Given the description of an element on the screen output the (x, y) to click on. 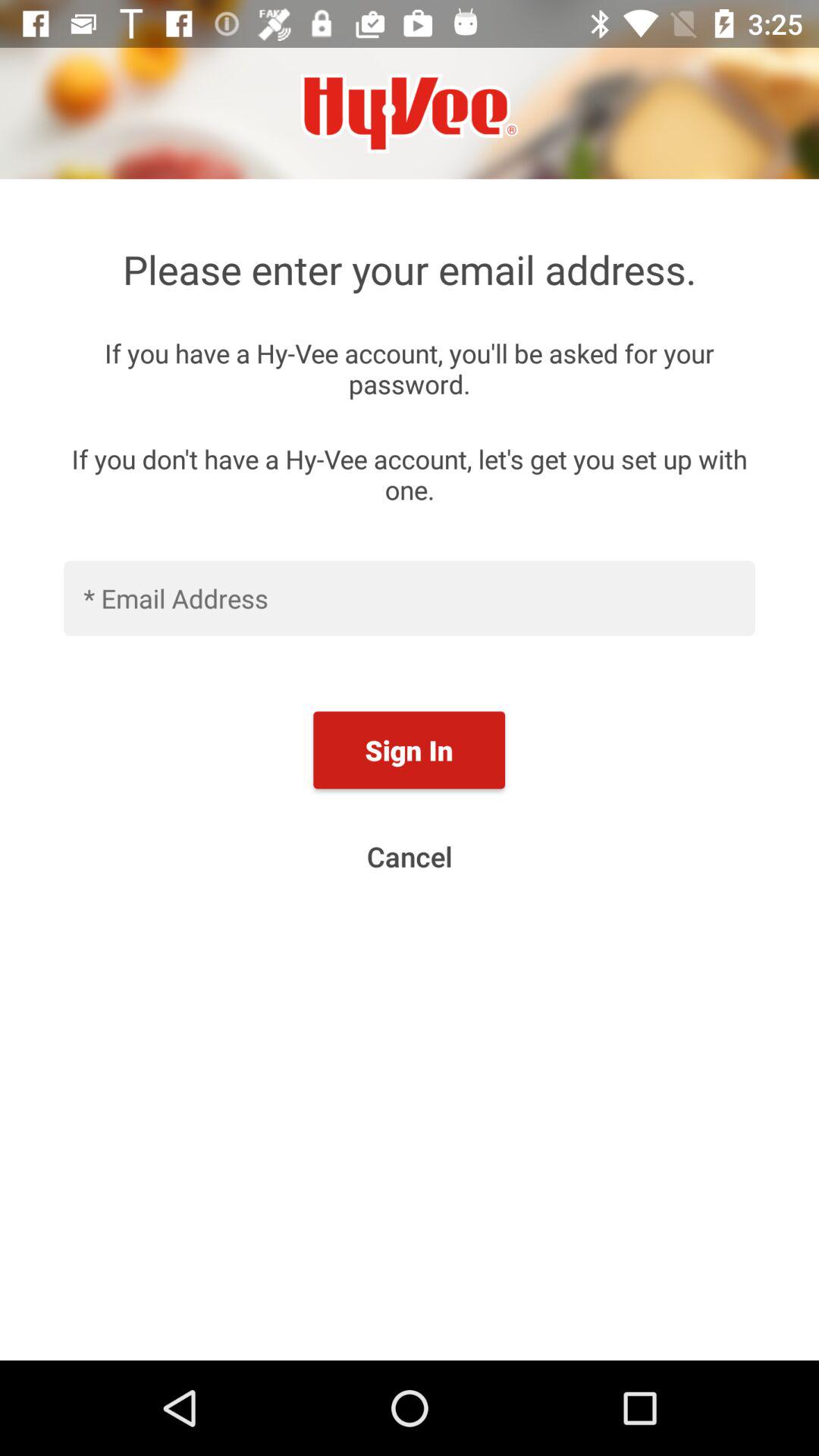
input email address (409, 597)
